Given the description of an element on the screen output the (x, y) to click on. 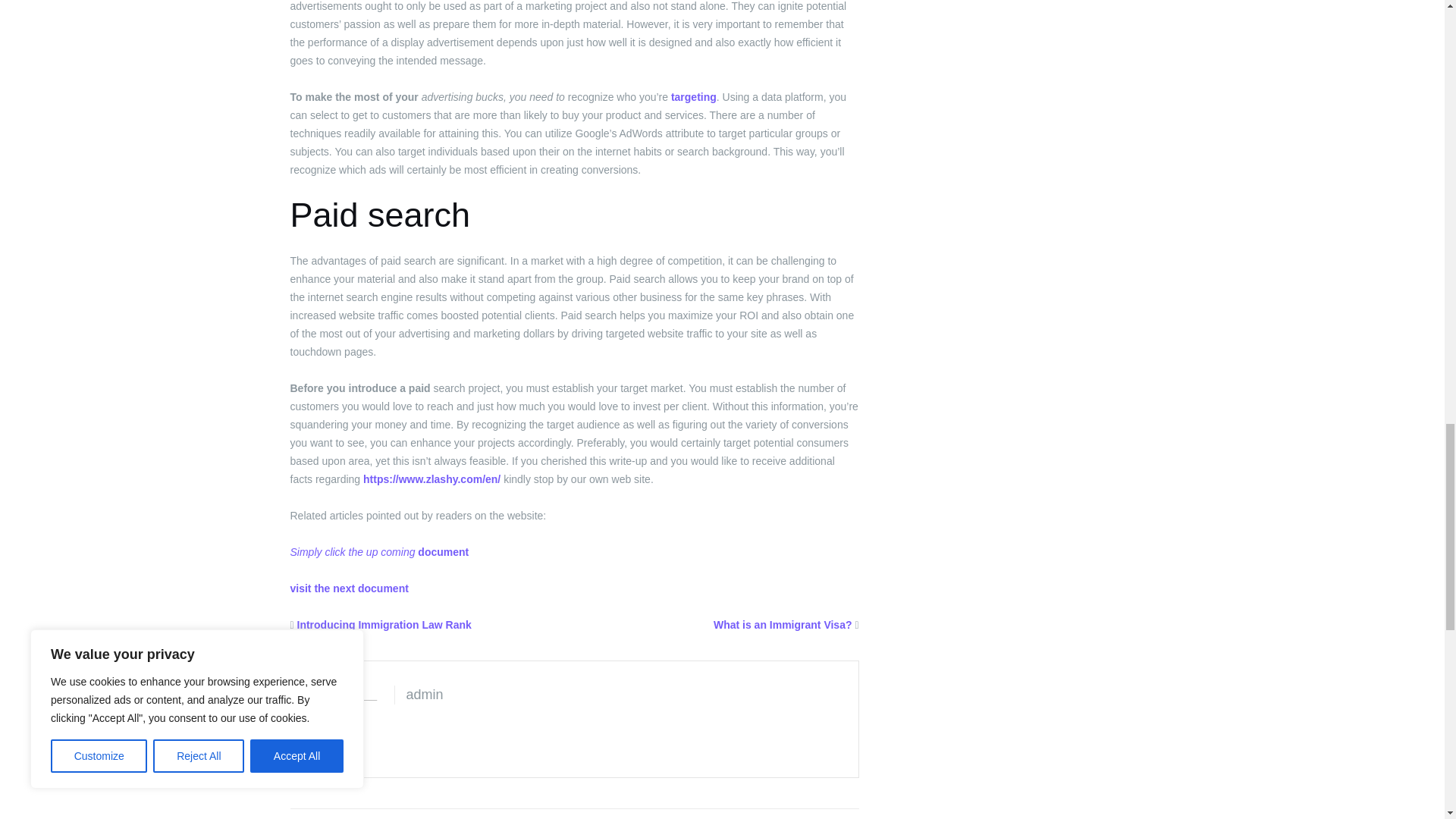
targeting (693, 96)
What is an Immigrant Visa? (782, 624)
Introducing Immigration Law Rank (384, 624)
Simply click the up coming document (378, 551)
visit the next document (348, 588)
